Given the description of an element on the screen output the (x, y) to click on. 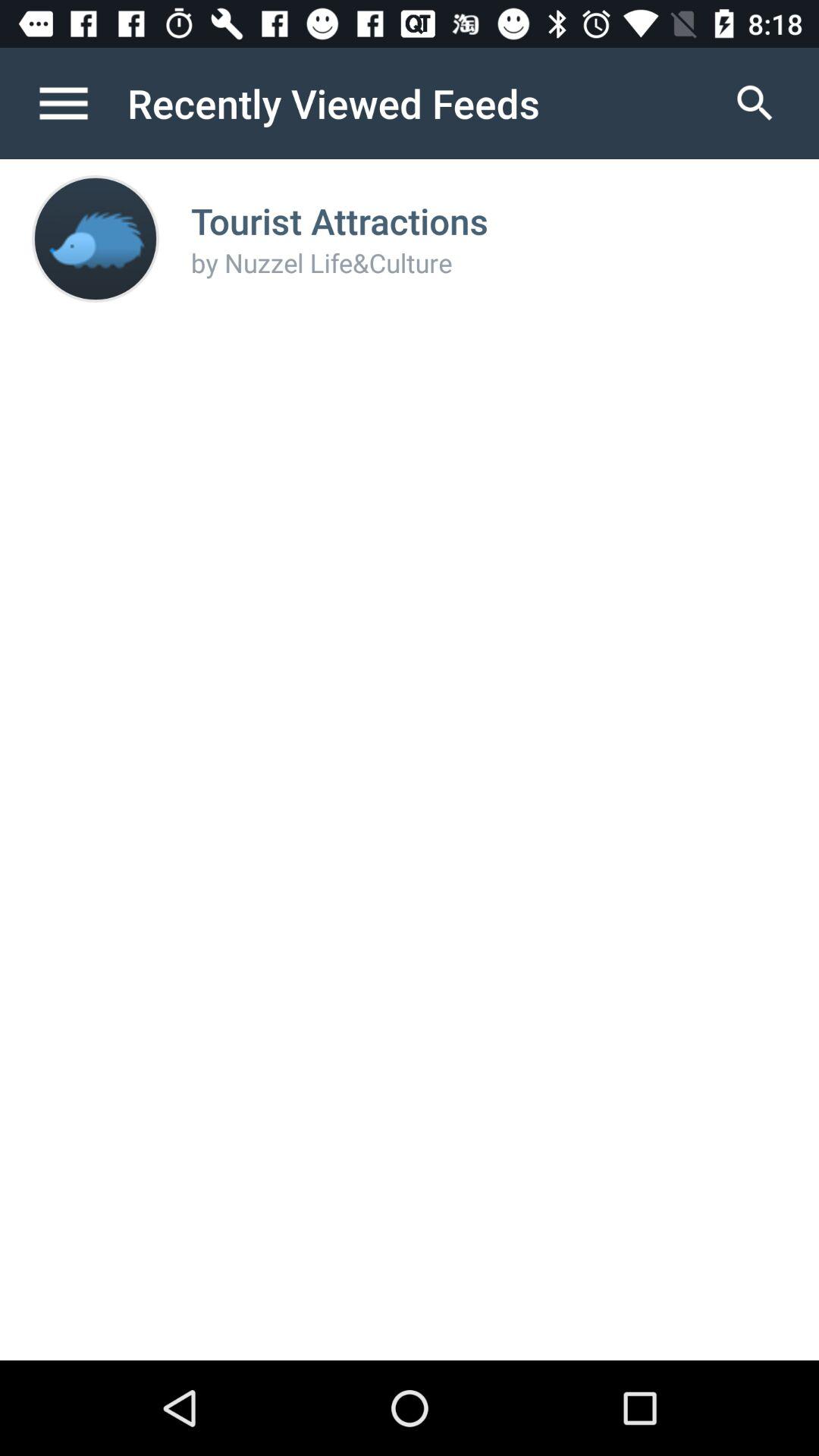
open the item at the top right corner (755, 103)
